Given the description of an element on the screen output the (x, y) to click on. 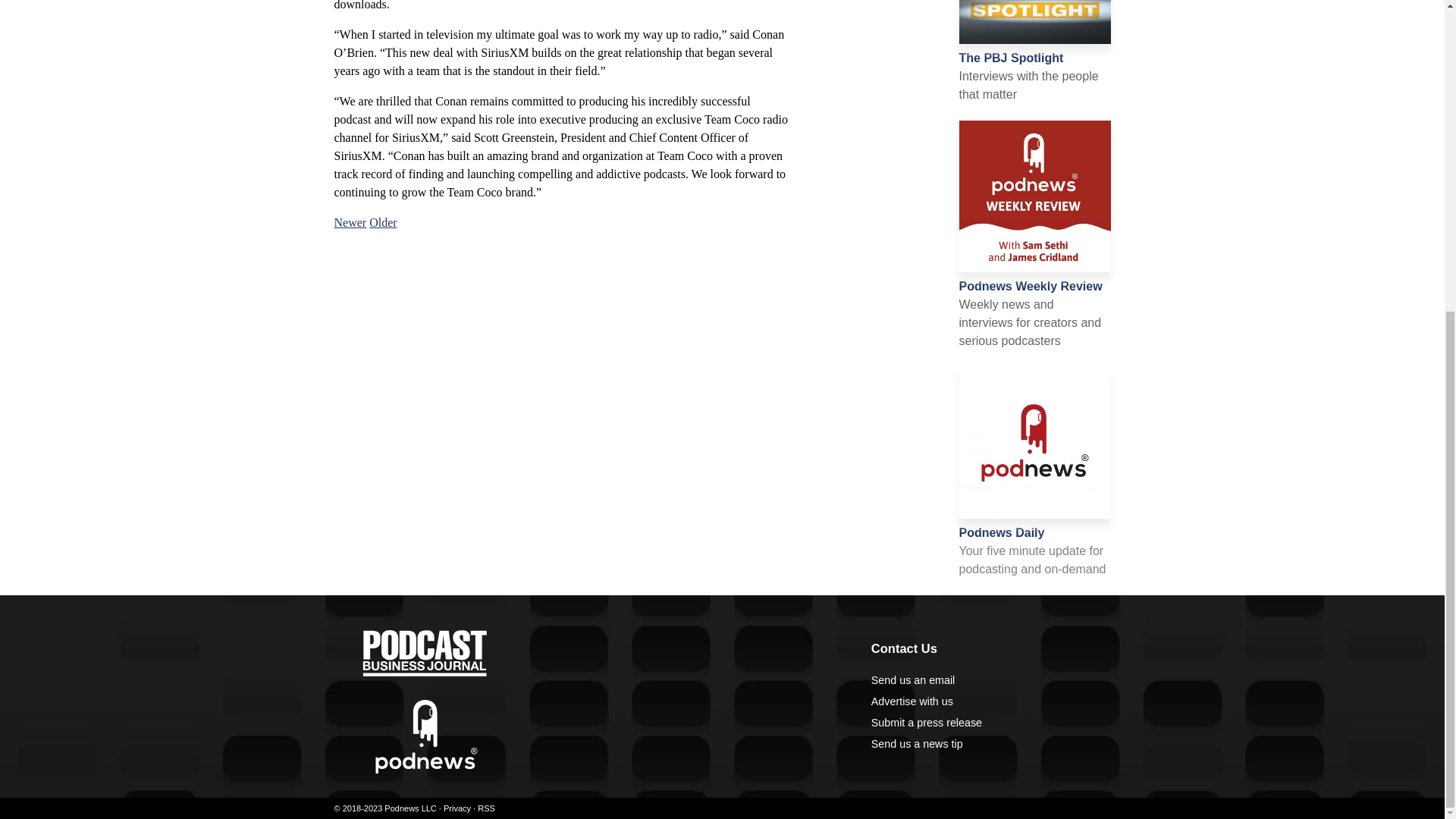
Advertise with us (911, 701)
Submit a press release (925, 722)
The PBJ Spotlight (1010, 57)
Podnews Weekly Review (1030, 286)
Older (382, 222)
Send us a news tip (916, 743)
Send us an email (912, 680)
Podnews Daily (1000, 532)
RSS (486, 808)
Privacy (457, 808)
Newer (349, 222)
